Given the description of an element on the screen output the (x, y) to click on. 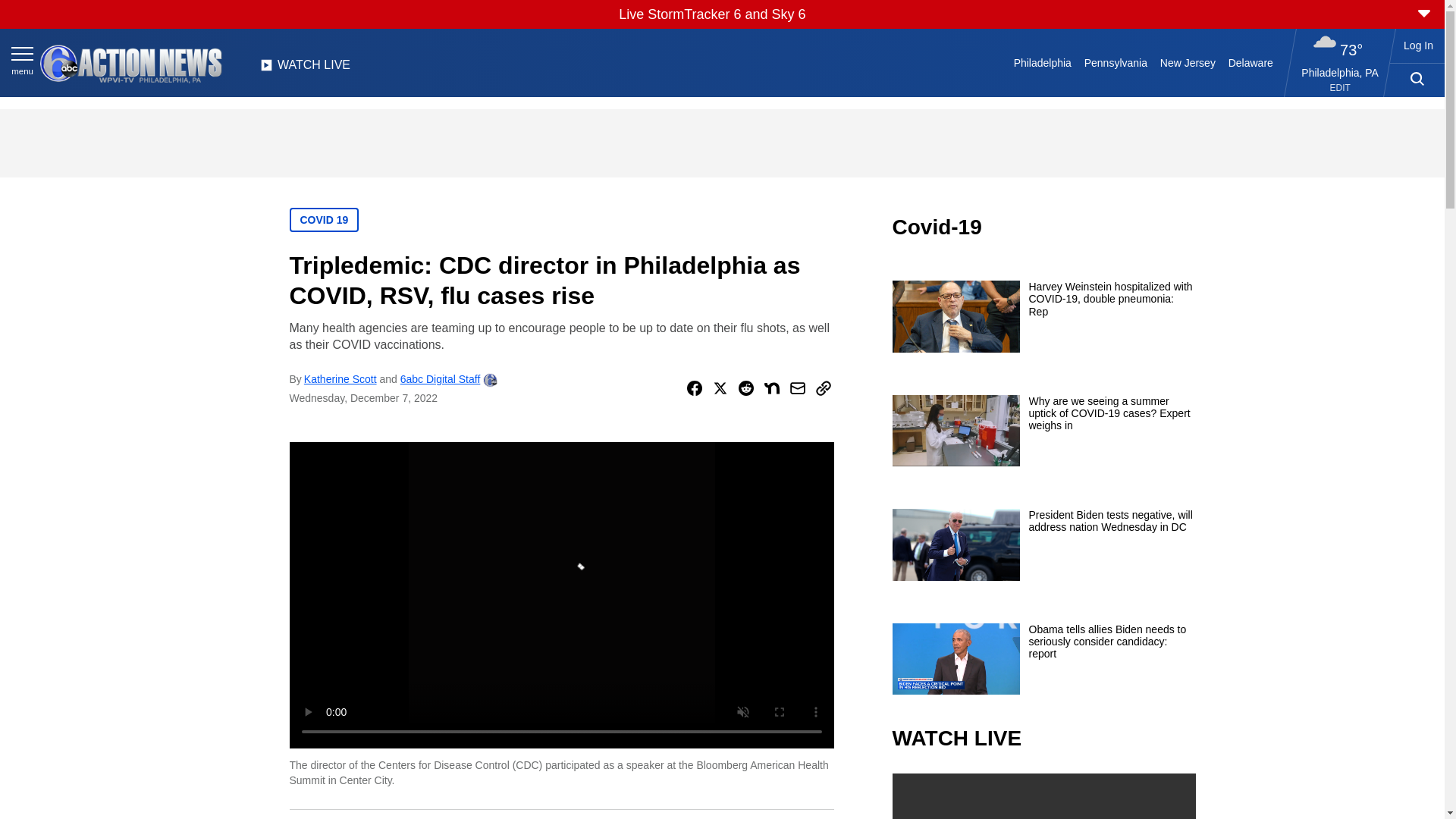
Pennsylvania (1115, 62)
WATCH LIVE (305, 69)
video.title (1043, 796)
EDIT (1340, 87)
New Jersey (1187, 62)
Philadelphia, PA (1339, 72)
Delaware (1250, 62)
Philadelphia (1042, 62)
